Given the description of an element on the screen output the (x, y) to click on. 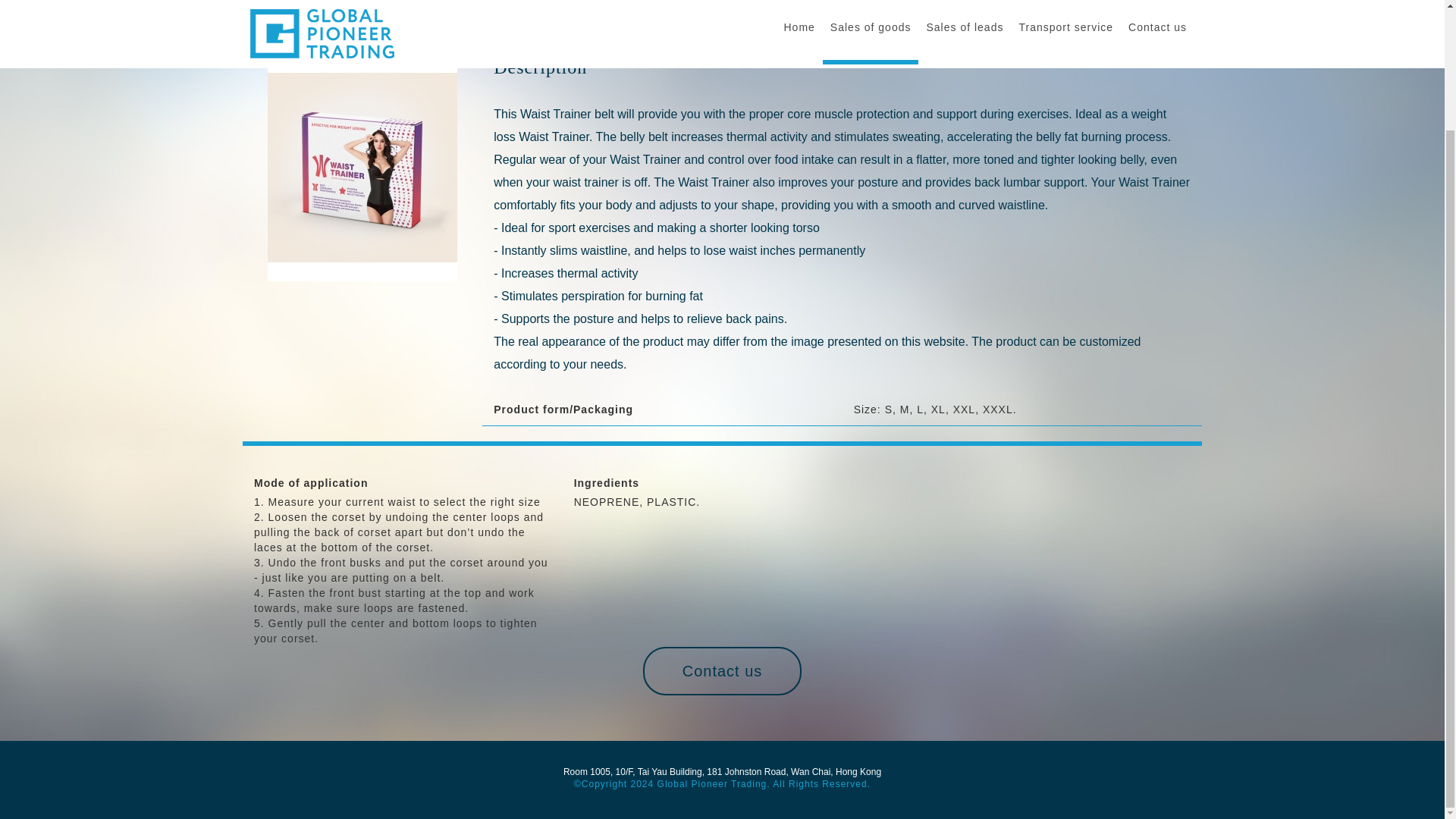
Contact us (722, 671)
